Given the description of an element on the screen output the (x, y) to click on. 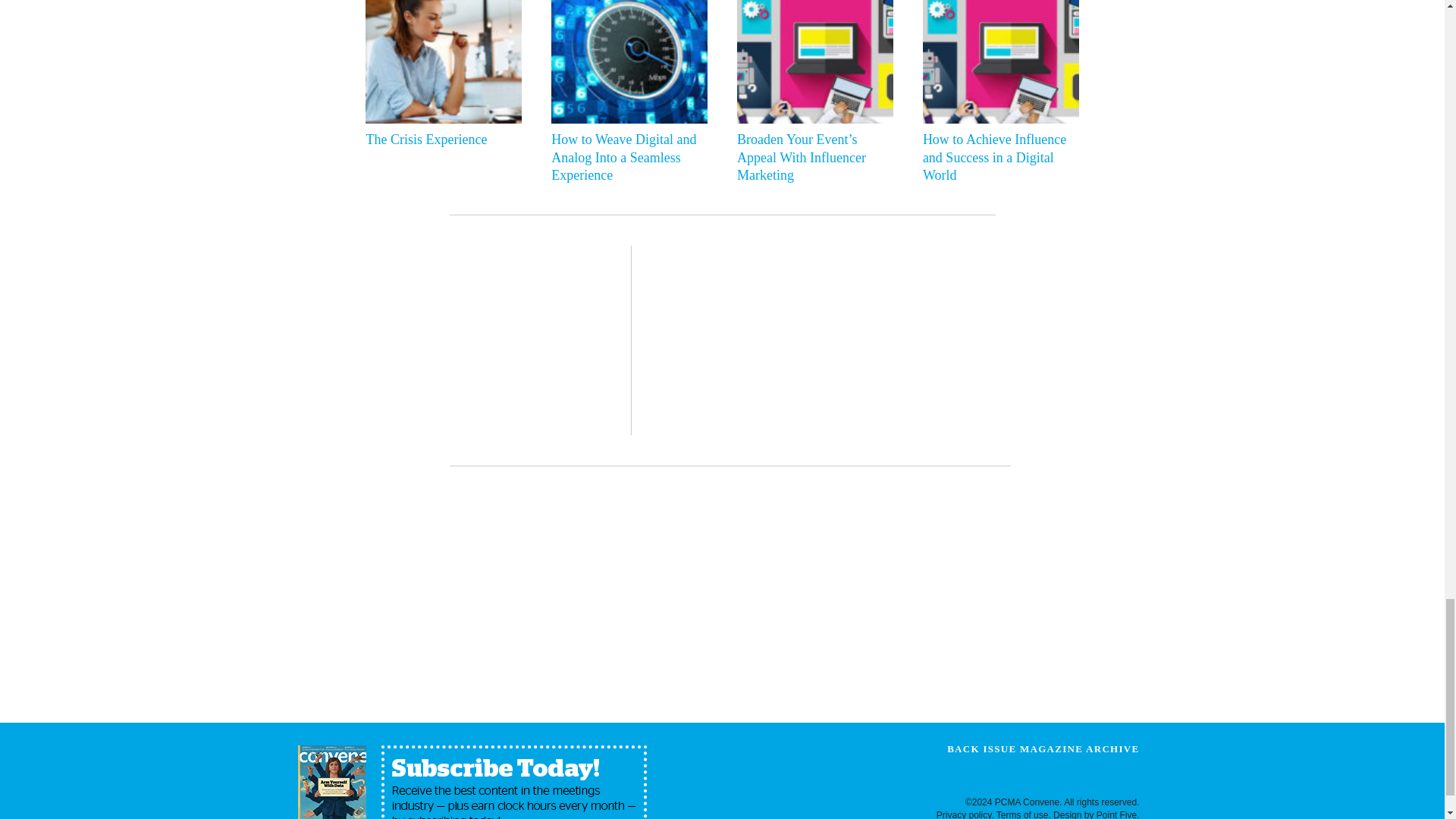
The Crisis Experience (439, 139)
CONV-house-sub-ad (471, 778)
How to Achieve Influence and Success in a Digital World (997, 157)
How to Weave Digital and Analog Into a Seamless Experience (625, 157)
